Given the description of an element on the screen output the (x, y) to click on. 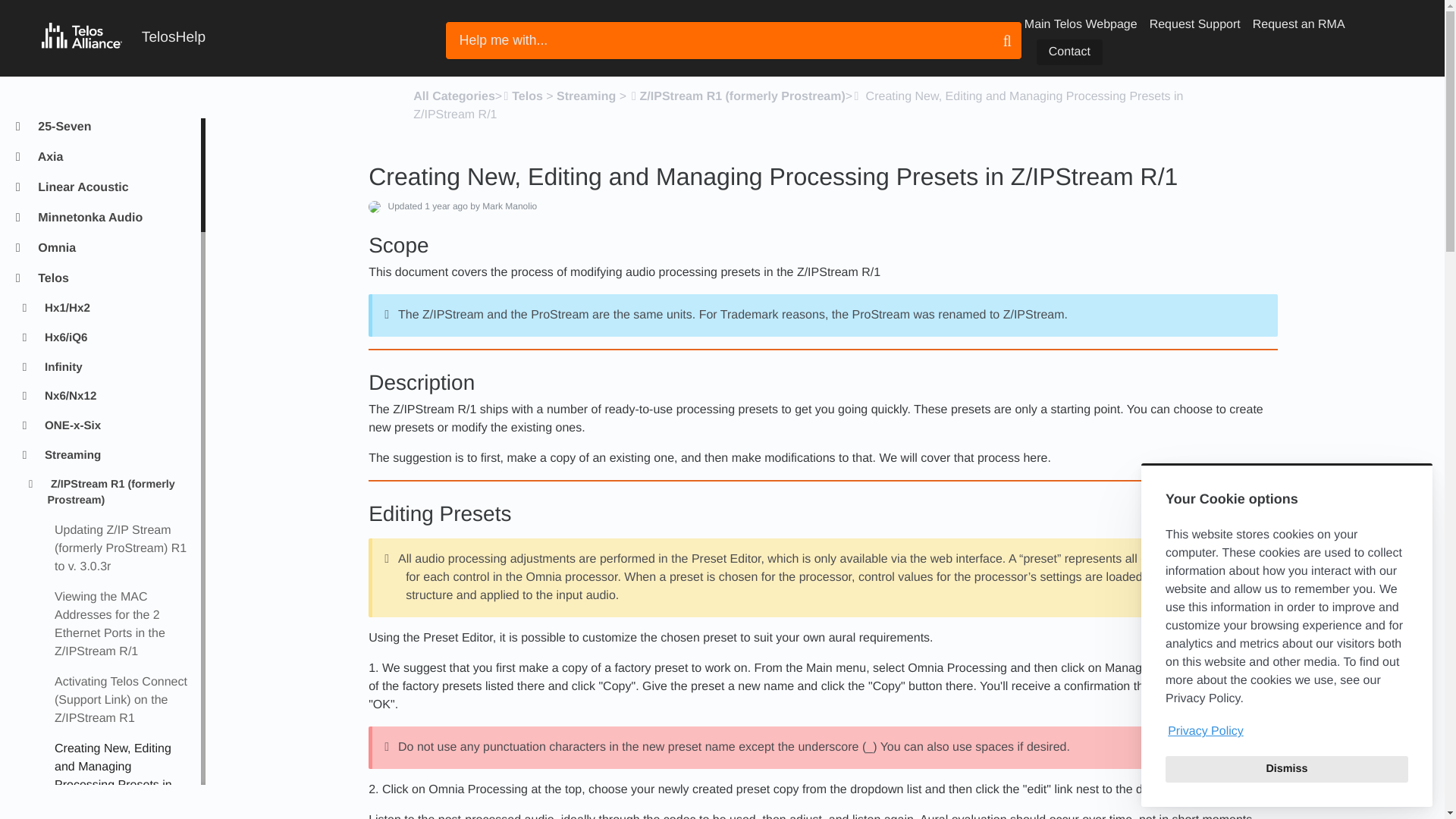
TelosHelp (123, 37)
Request Support (1195, 24)
Dismiss (1286, 768)
Contact (1069, 52)
Main Telos Webpage (1081, 24)
Request an RMA (1298, 24)
25-Seven (112, 126)
Privacy Policy (1286, 731)
